Given the description of an element on the screen output the (x, y) to click on. 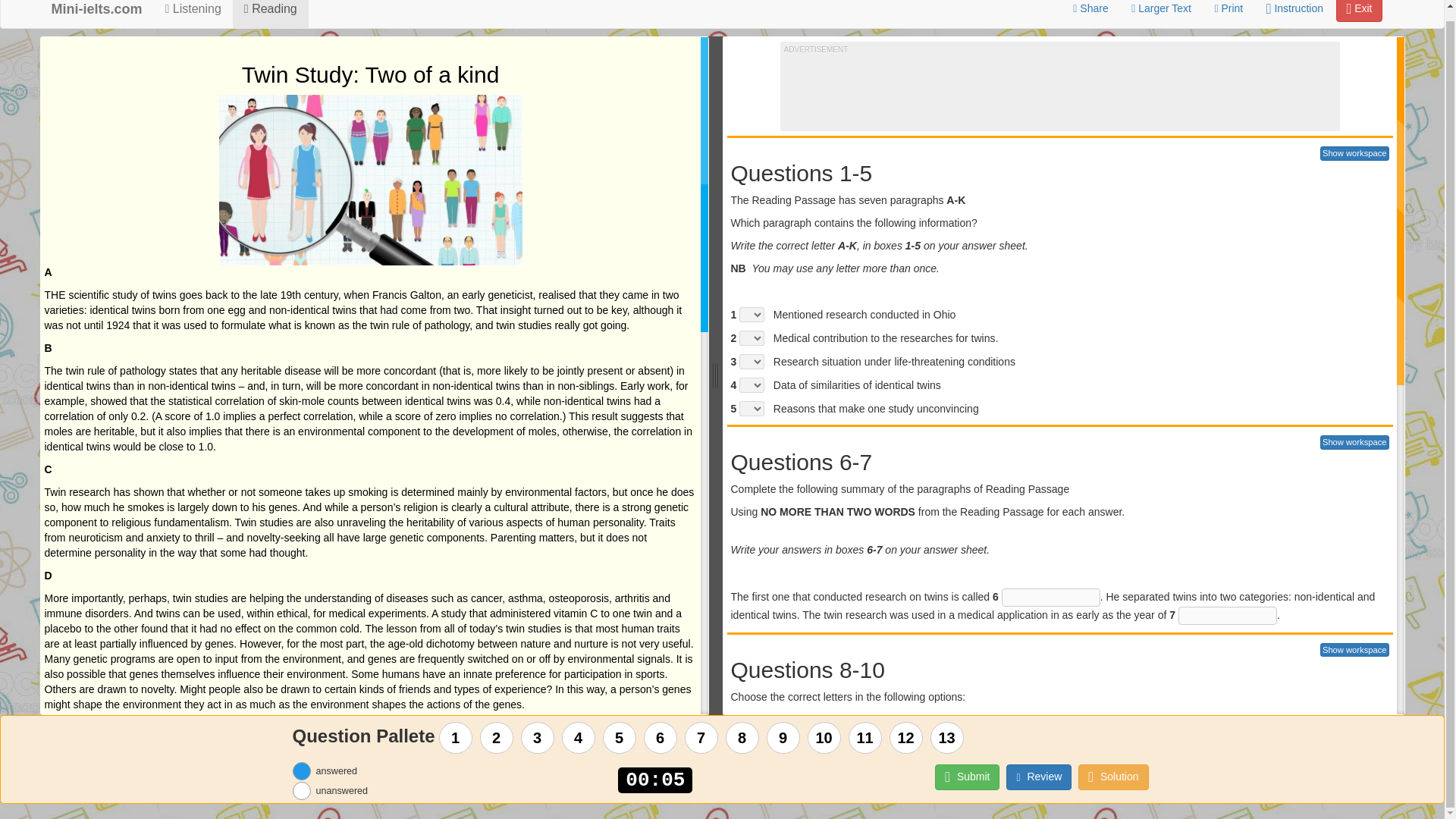
 Larger Text (1161, 11)
 Print (1228, 11)
 Solution (1113, 777)
Show workspace (1354, 441)
Listening (193, 13)
B (746, 791)
A (746, 766)
11 (864, 737)
10 (823, 737)
Show workspace (1354, 649)
